Given the description of an element on the screen output the (x, y) to click on. 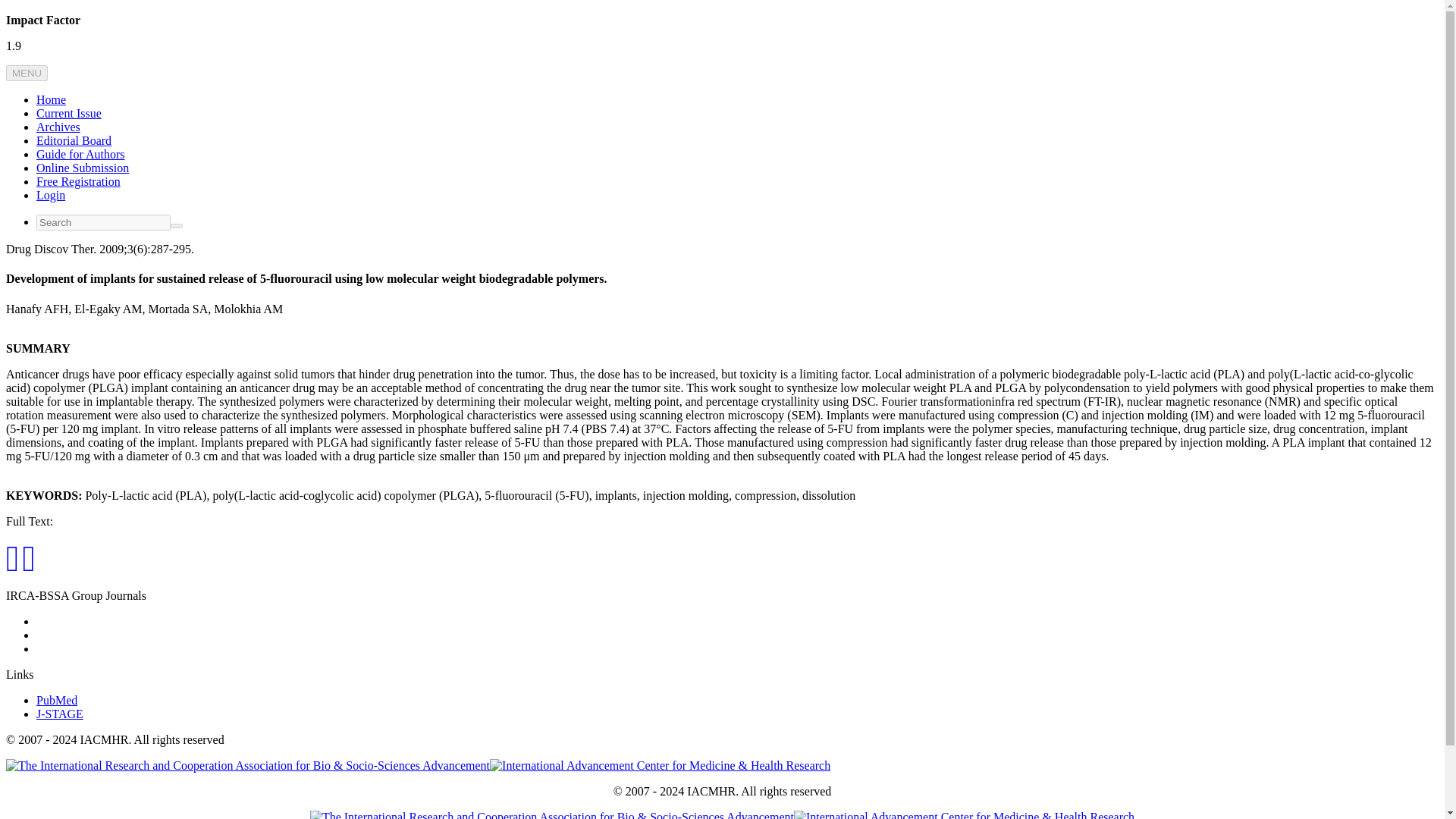
PubMed (56, 699)
Free Registration (78, 181)
Archives (58, 126)
Guide for Authors (79, 154)
Current Issue (68, 113)
Online Submission (82, 167)
Home (50, 99)
J-STAGE (59, 713)
Login (50, 195)
Editorial Board (74, 140)
